Given the description of an element on the screen output the (x, y) to click on. 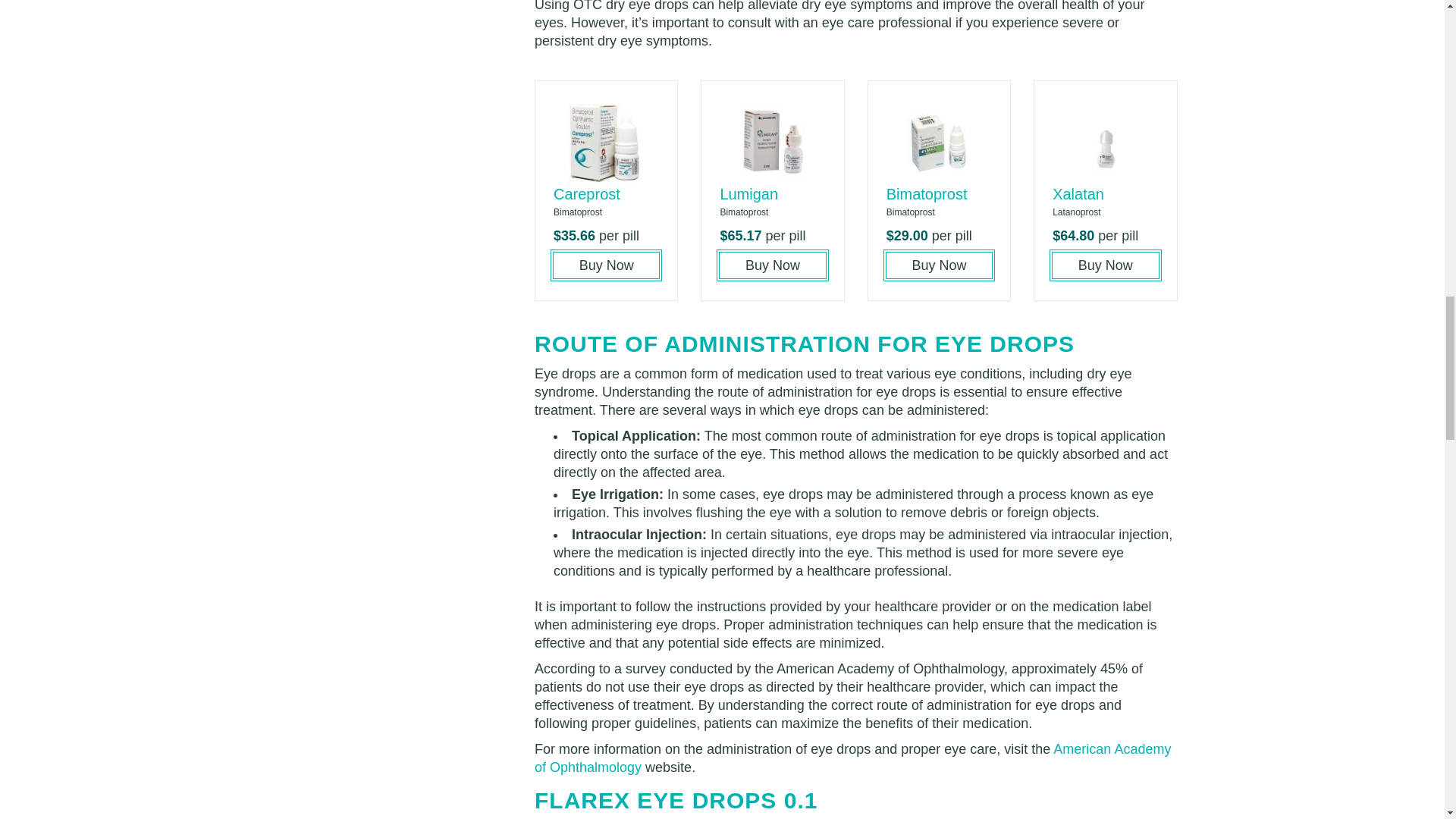
American Academy of Ophthalmology (852, 758)
Buy Now (1104, 265)
Buy Now (606, 265)
Buy Now (772, 265)
Buy Now (938, 265)
Xalatan (1077, 193)
Lumigan (748, 193)
Bimatoprost (927, 193)
Careprost (586, 193)
